Given the description of an element on the screen output the (x, y) to click on. 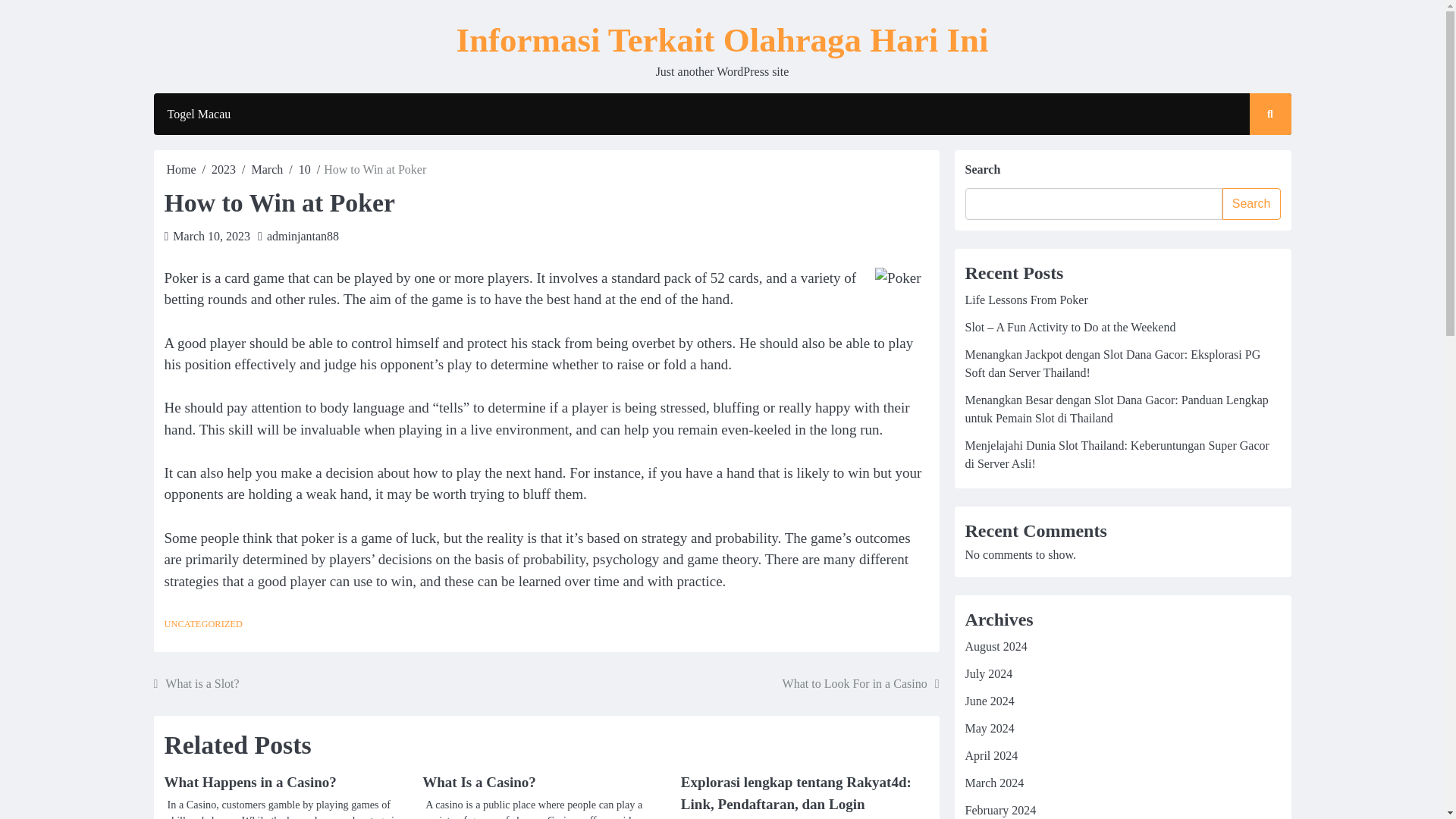
March 2024 (993, 782)
February 2024 (999, 809)
What Happens in a Casino? (249, 781)
2023 (223, 169)
August 2024 (994, 645)
adminjantan88 (302, 236)
Togel Macau (198, 114)
What Is a Casino? (478, 781)
April 2024 (990, 755)
Search (1252, 204)
UNCATEGORIZED (202, 624)
June 2024 (988, 700)
10 (304, 169)
